Given the description of an element on the screen output the (x, y) to click on. 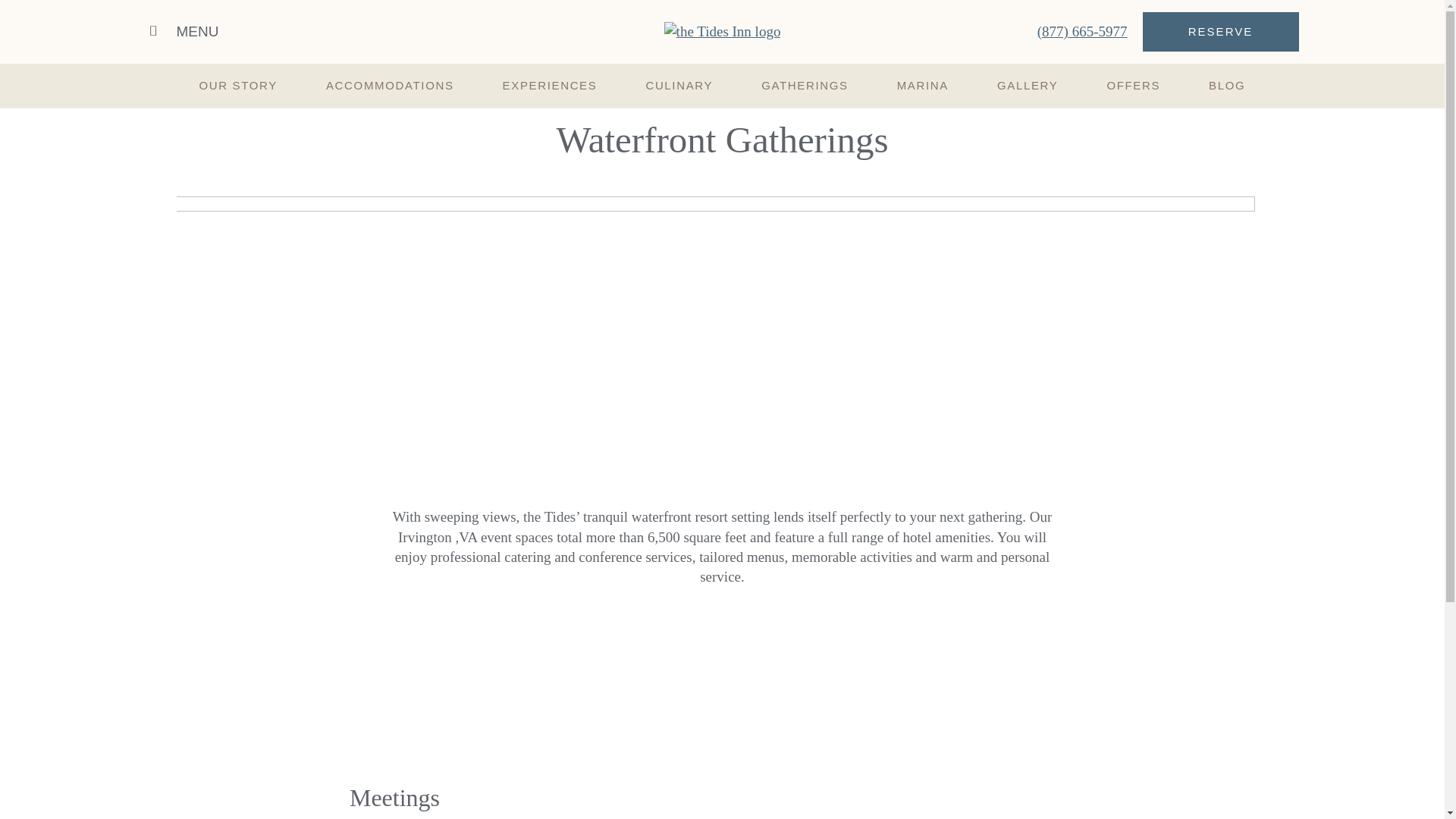
OFFERS (1133, 85)
MENU (183, 31)
RESERVE (1219, 32)
GALLERY (1026, 85)
BLOG (1226, 85)
EXPERIENCES (550, 85)
ACCOMMODATIONS (389, 85)
GATHERINGS (804, 85)
MARINA (922, 85)
OUR STORY (237, 85)
CULINARY (678, 85)
